Given the description of an element on the screen output the (x, y) to click on. 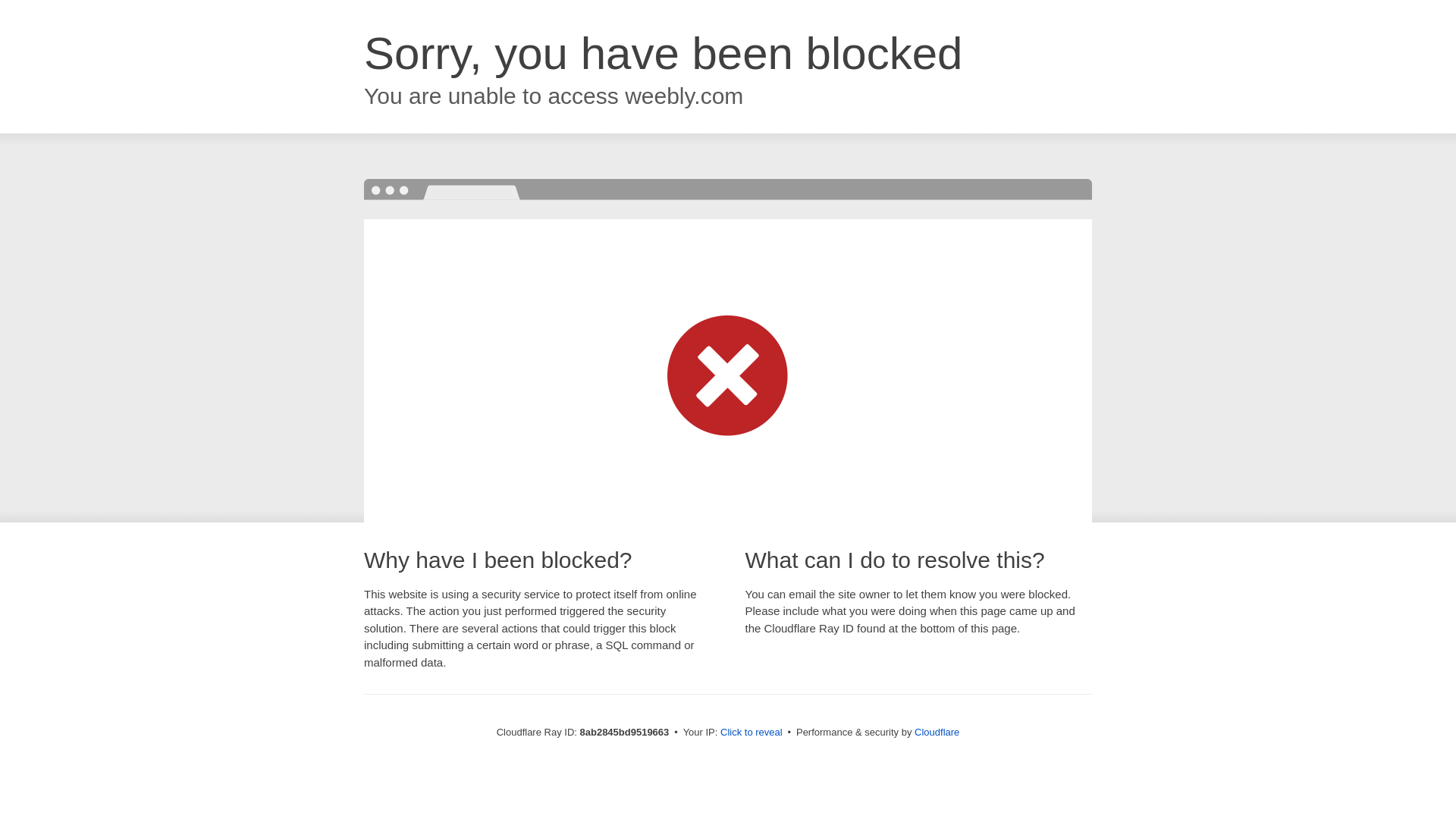
Click to reveal (751, 732)
Cloudflare (936, 731)
